Given the description of an element on the screen output the (x, y) to click on. 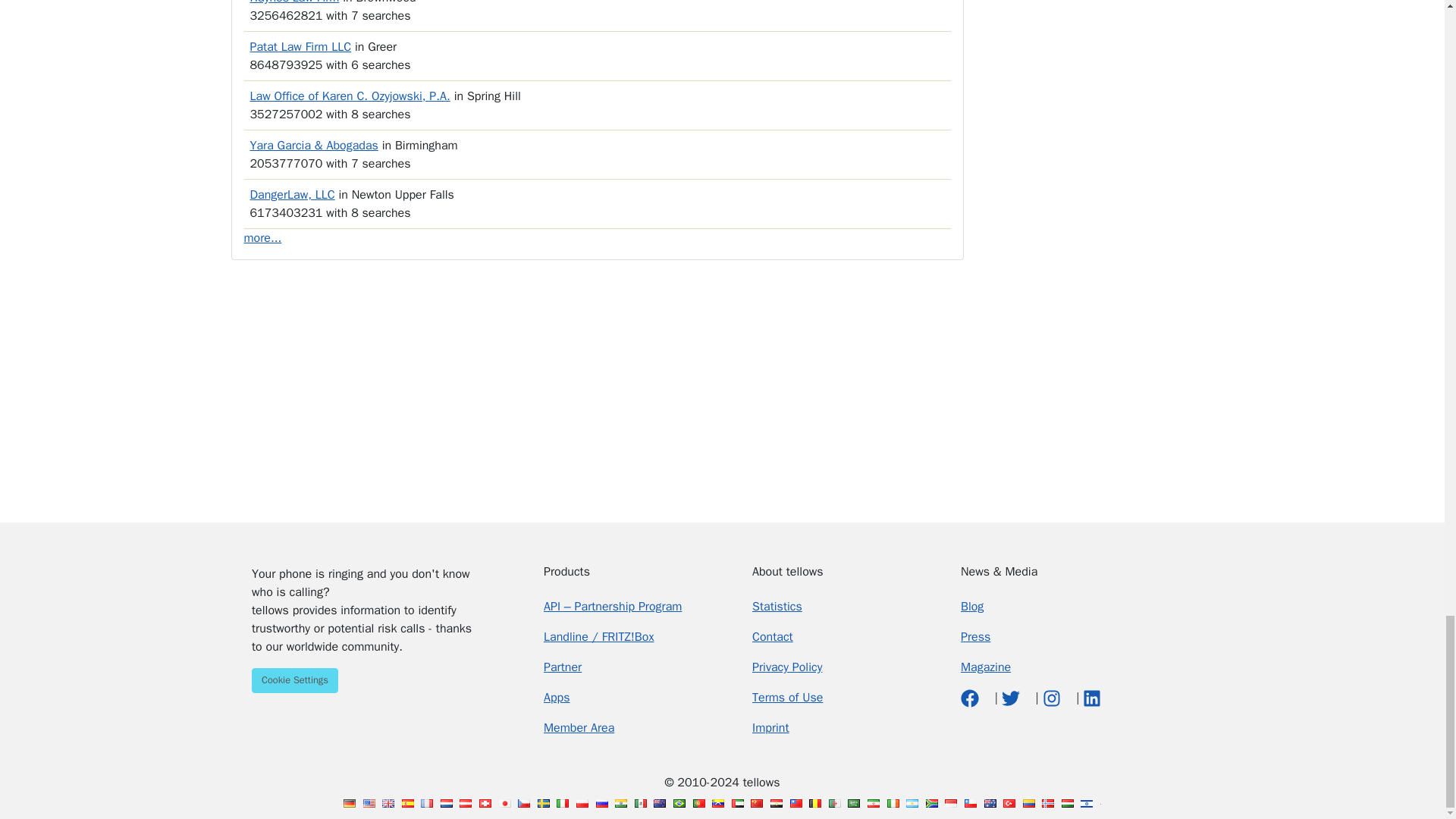
tellows Japan (505, 803)
twitter (1012, 697)
tellows Spain (407, 803)
Blog (972, 606)
Presse (975, 636)
LinkedIn (1091, 697)
tellows France (426, 803)
Facebook (971, 697)
Instagram (1053, 697)
tellows Netherlands (446, 803)
